Given the description of an element on the screen output the (x, y) to click on. 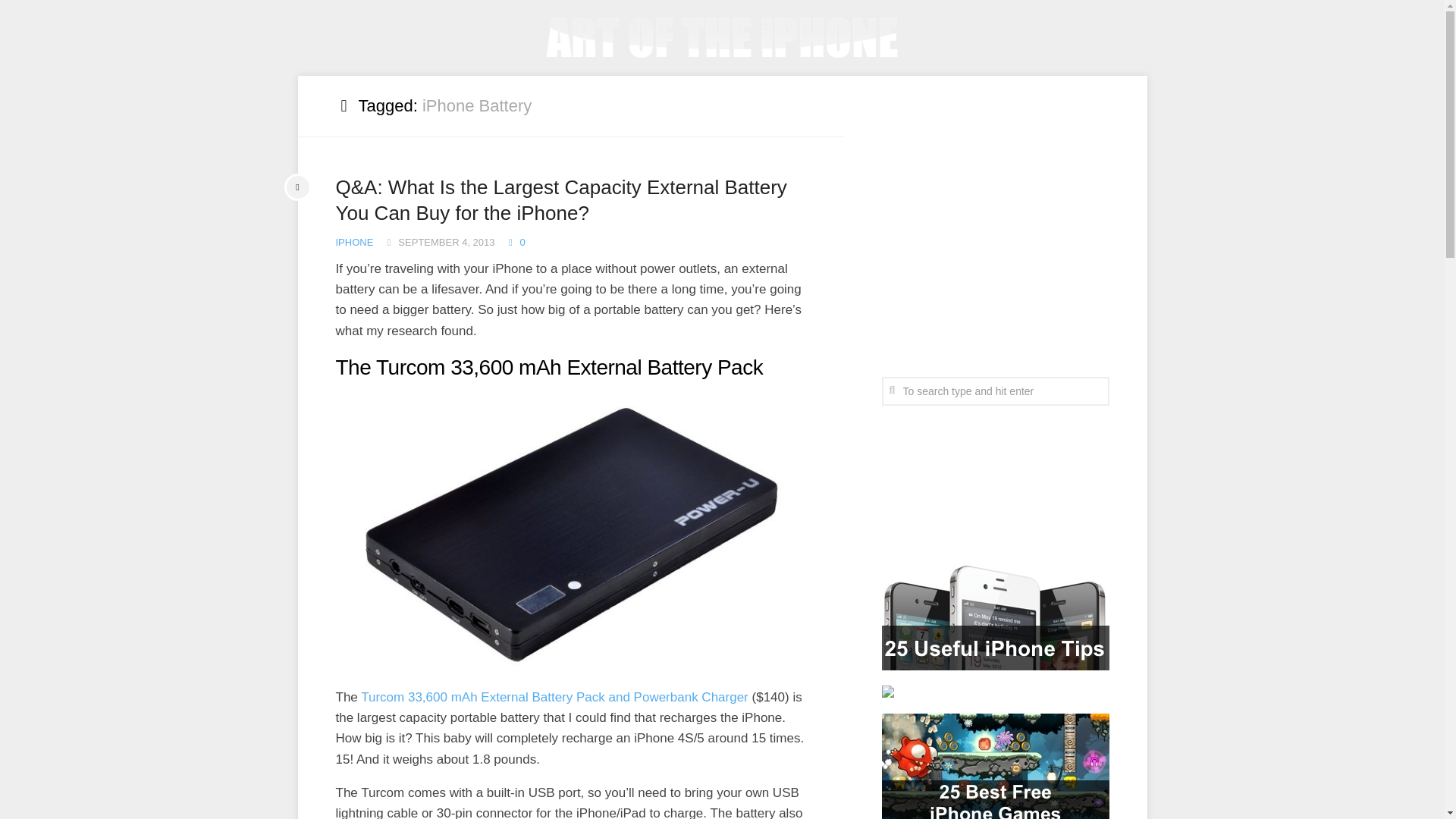
Turcom Battery at Amazon.com (554, 697)
IPHONE (353, 242)
To search type and hit enter (994, 389)
To search type and hit enter (994, 389)
0 (515, 242)
